Given the description of an element on the screen output the (x, y) to click on. 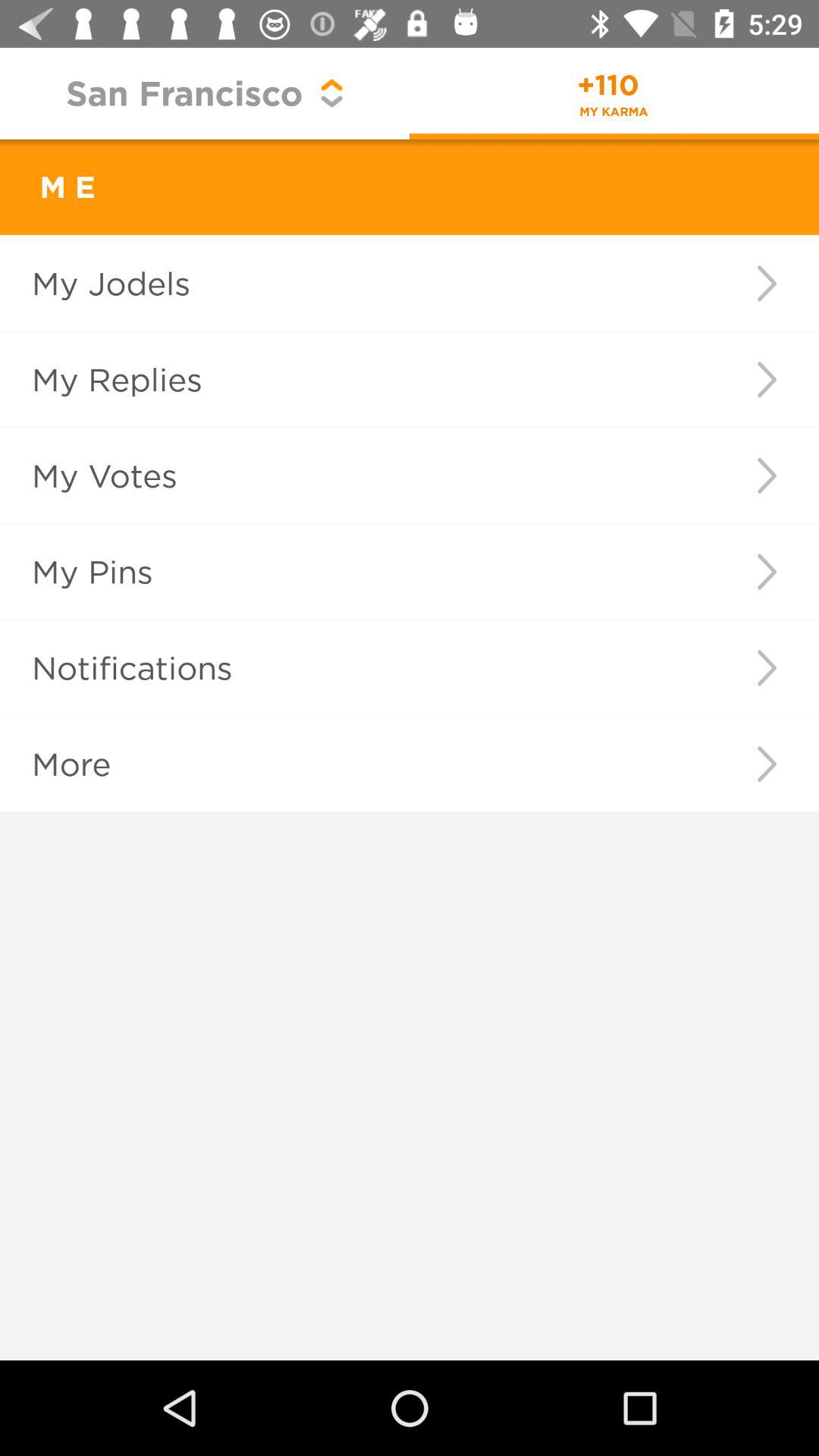
turn on the icon above my pins (351, 475)
